Given the description of an element on the screen output the (x, y) to click on. 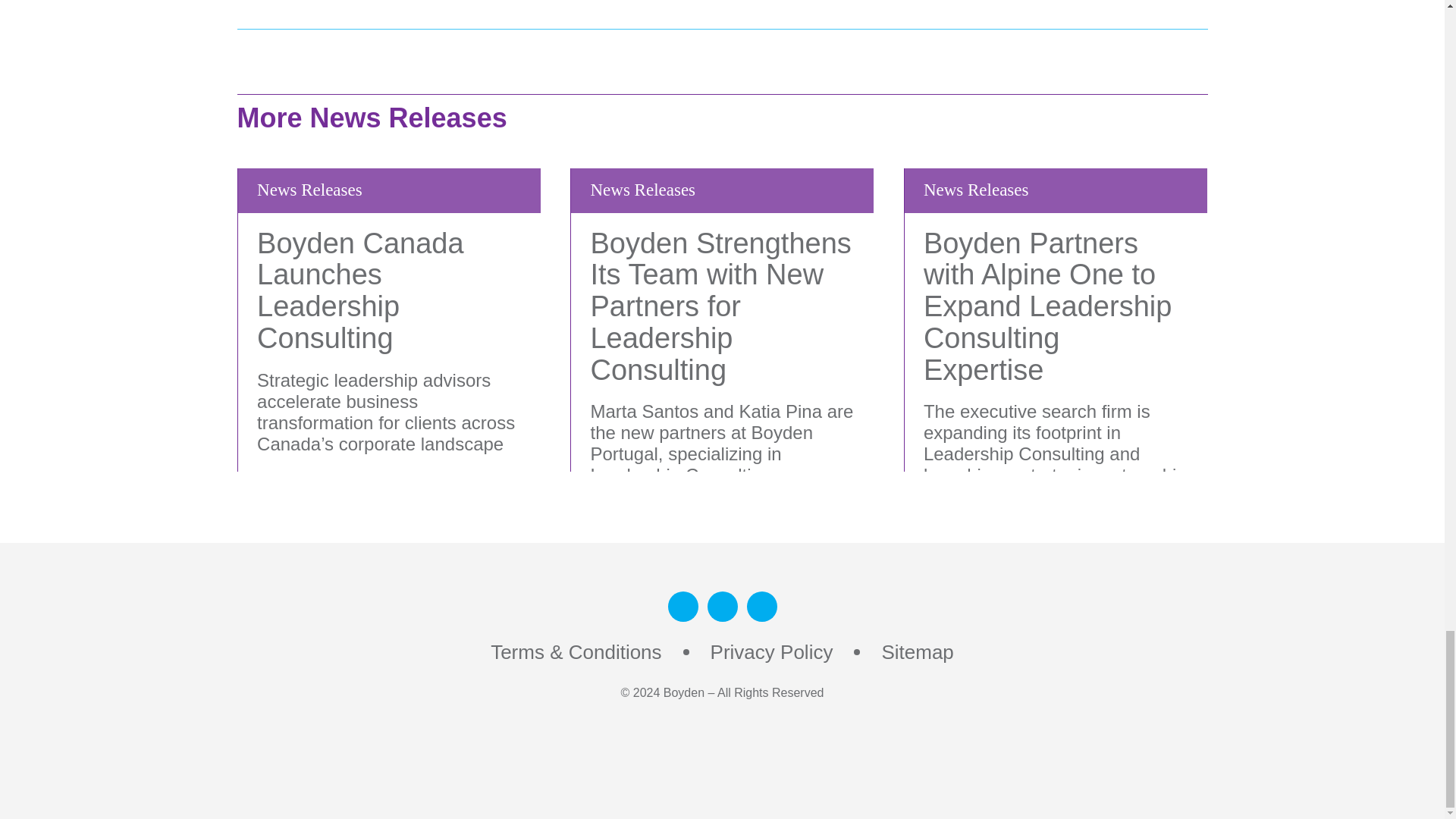
Follow Us on Facebook (721, 606)
Follow Us on Twitter (760, 606)
Follow Us on LinkedIn (681, 606)
